Given the description of an element on the screen output the (x, y) to click on. 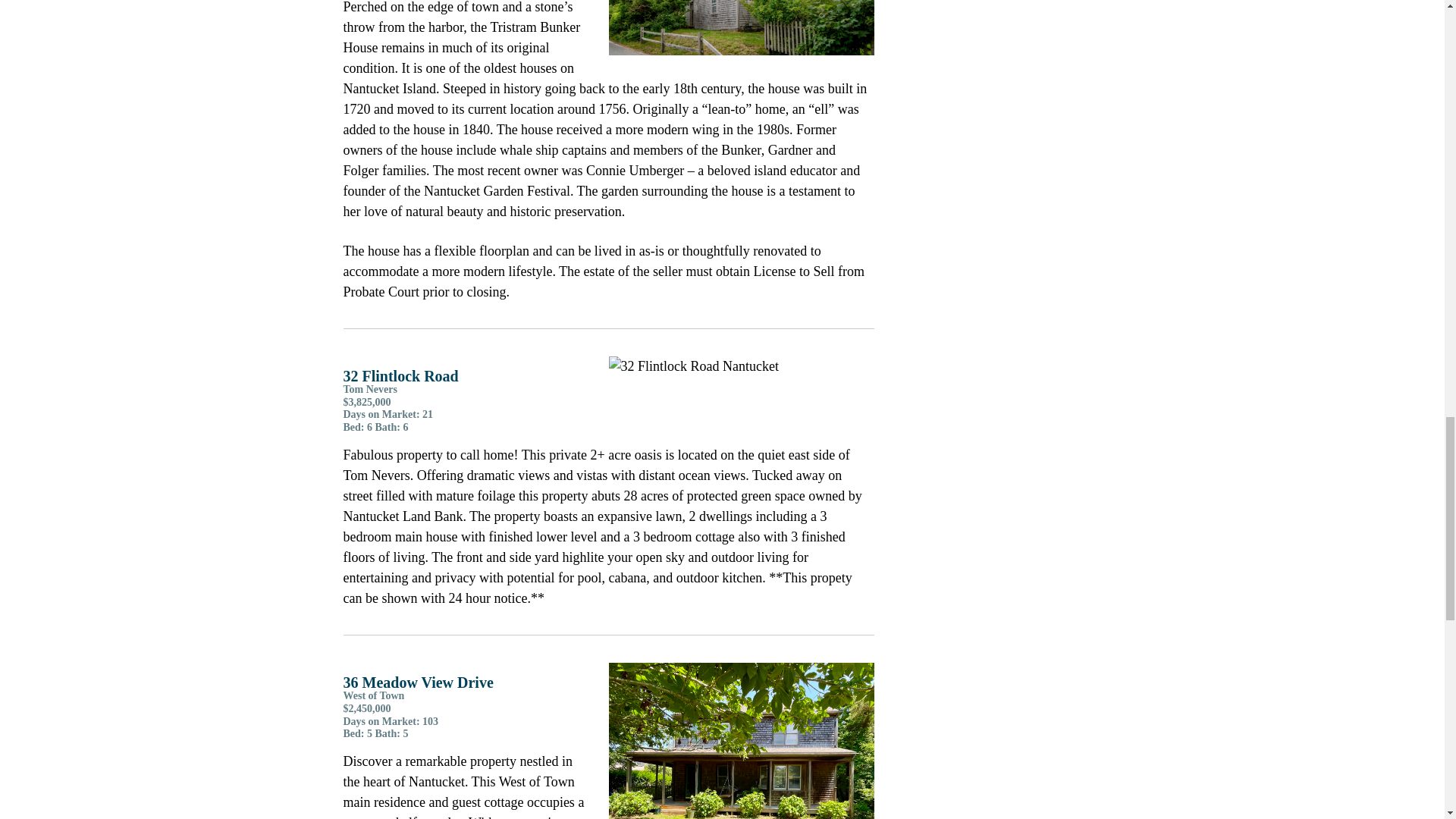
36 Meadow View Drive (740, 740)
3 Bear Street (740, 28)
32 Flintlock Road (740, 366)
